Given the description of an element on the screen output the (x, y) to click on. 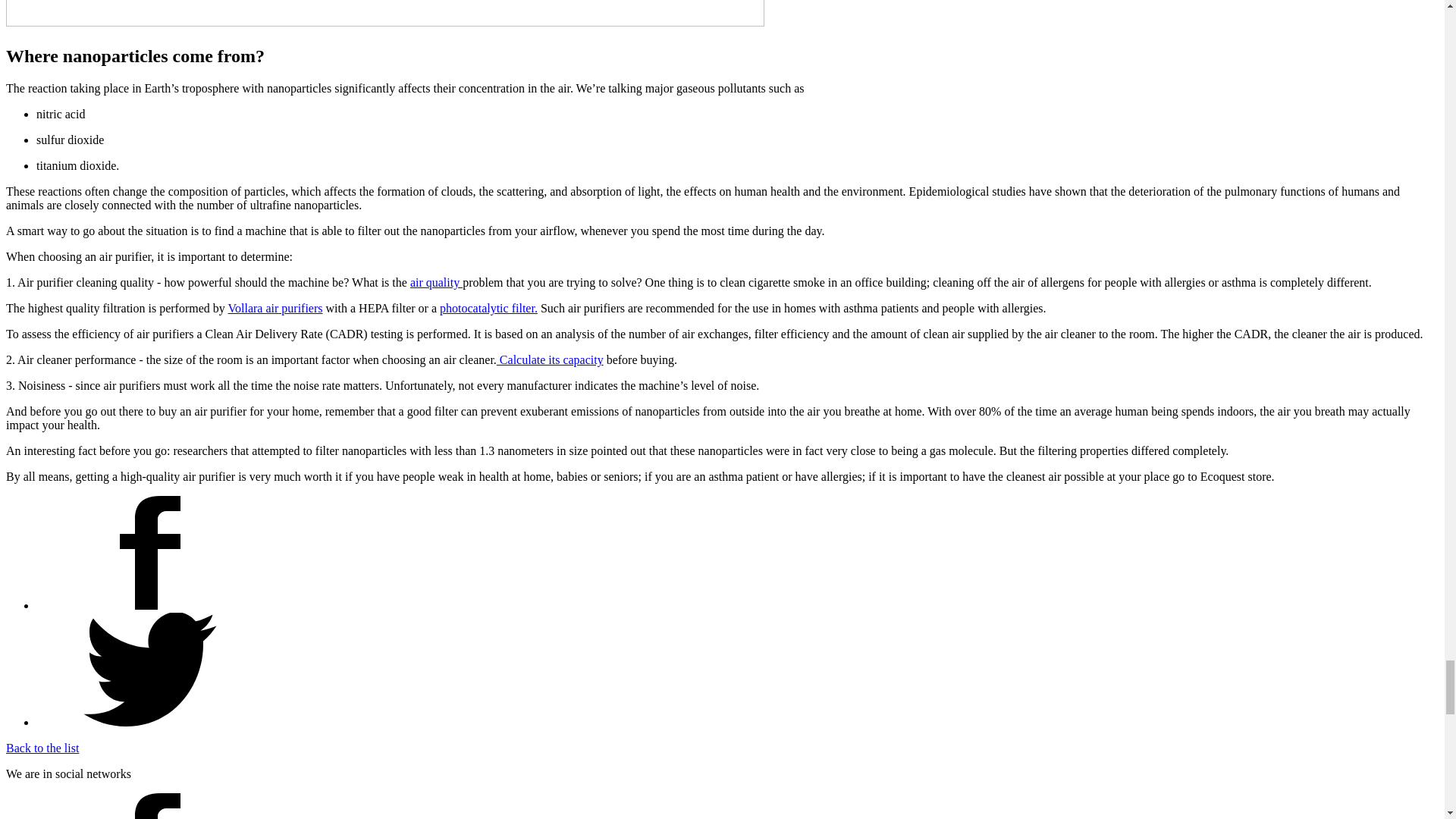
Share Twitter (149, 721)
Share Facebook (149, 604)
